Given the description of an element on the screen output the (x, y) to click on. 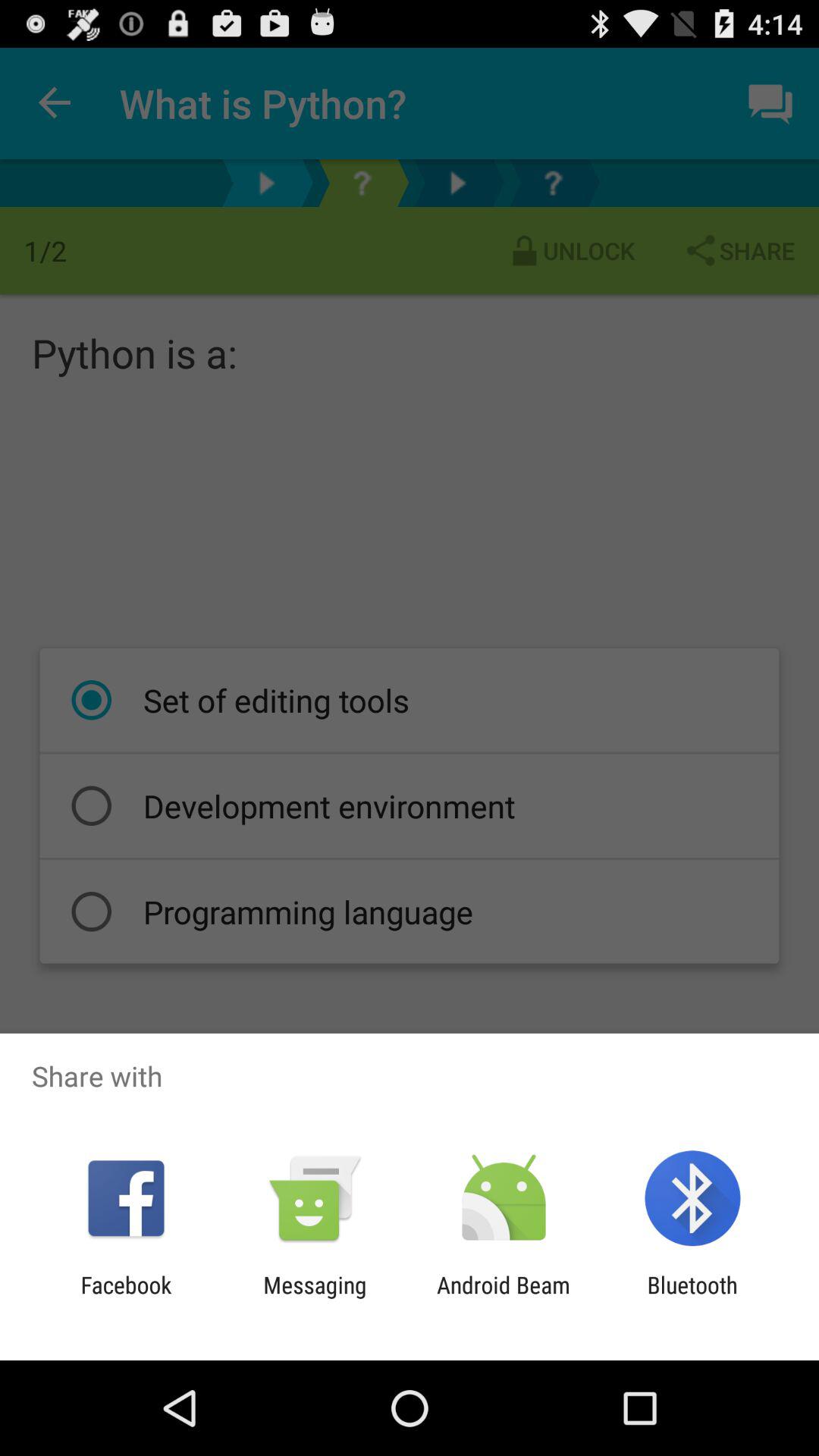
launch the bluetooth (692, 1298)
